Given the description of an element on the screen output the (x, y) to click on. 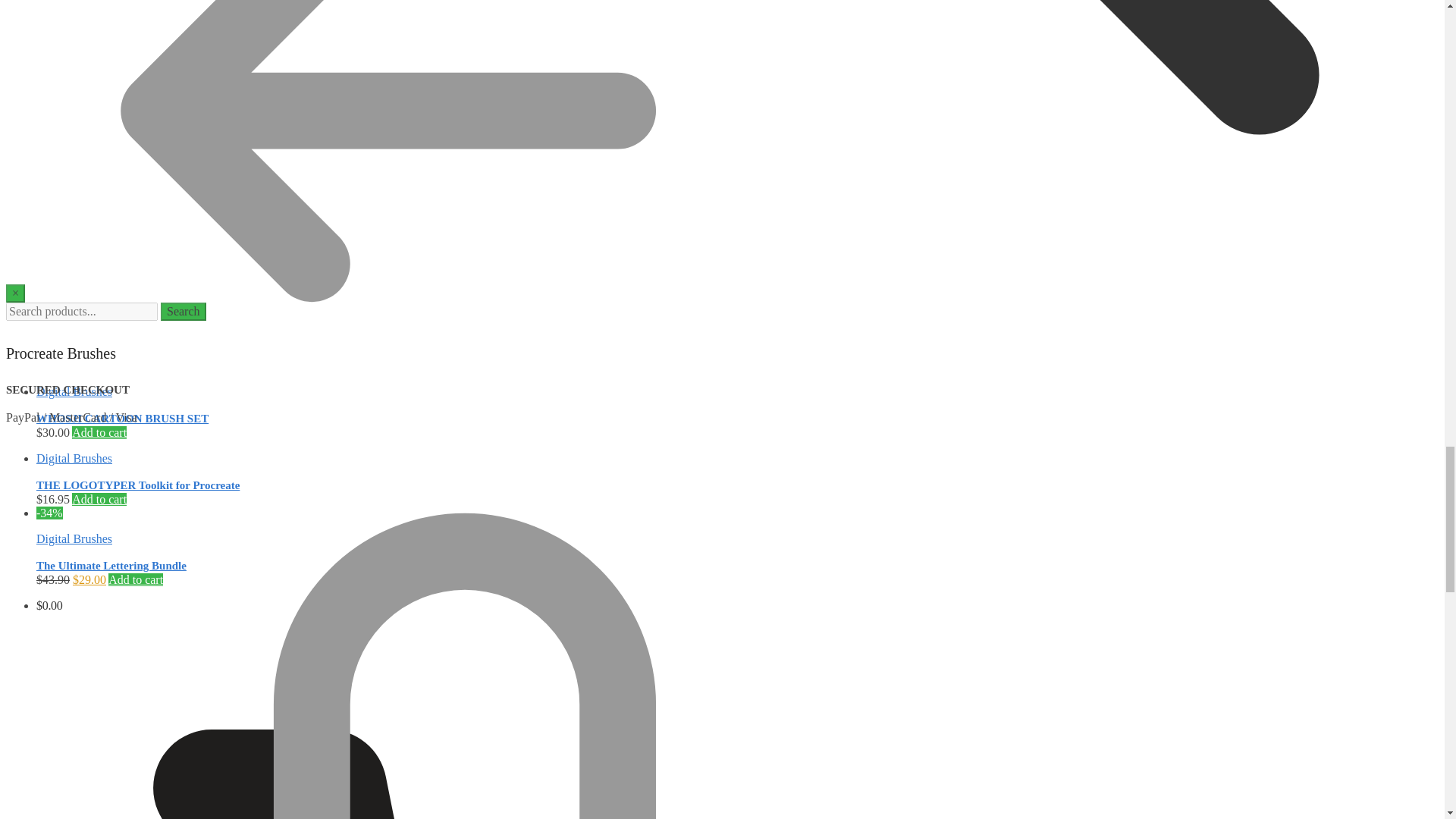
Add to cart (135, 579)
THE LOGOTYPER Toolkit for Procreate (138, 485)
Add to cart (98, 431)
Add to cart (98, 499)
Search (183, 311)
Digital Brushes (74, 458)
WHOSJI CARTOON BRUSH SET (122, 418)
The Ultimate Lettering Bundle (111, 565)
Digital Brushes (74, 391)
Digital Brushes (74, 538)
